Given the description of an element on the screen output the (x, y) to click on. 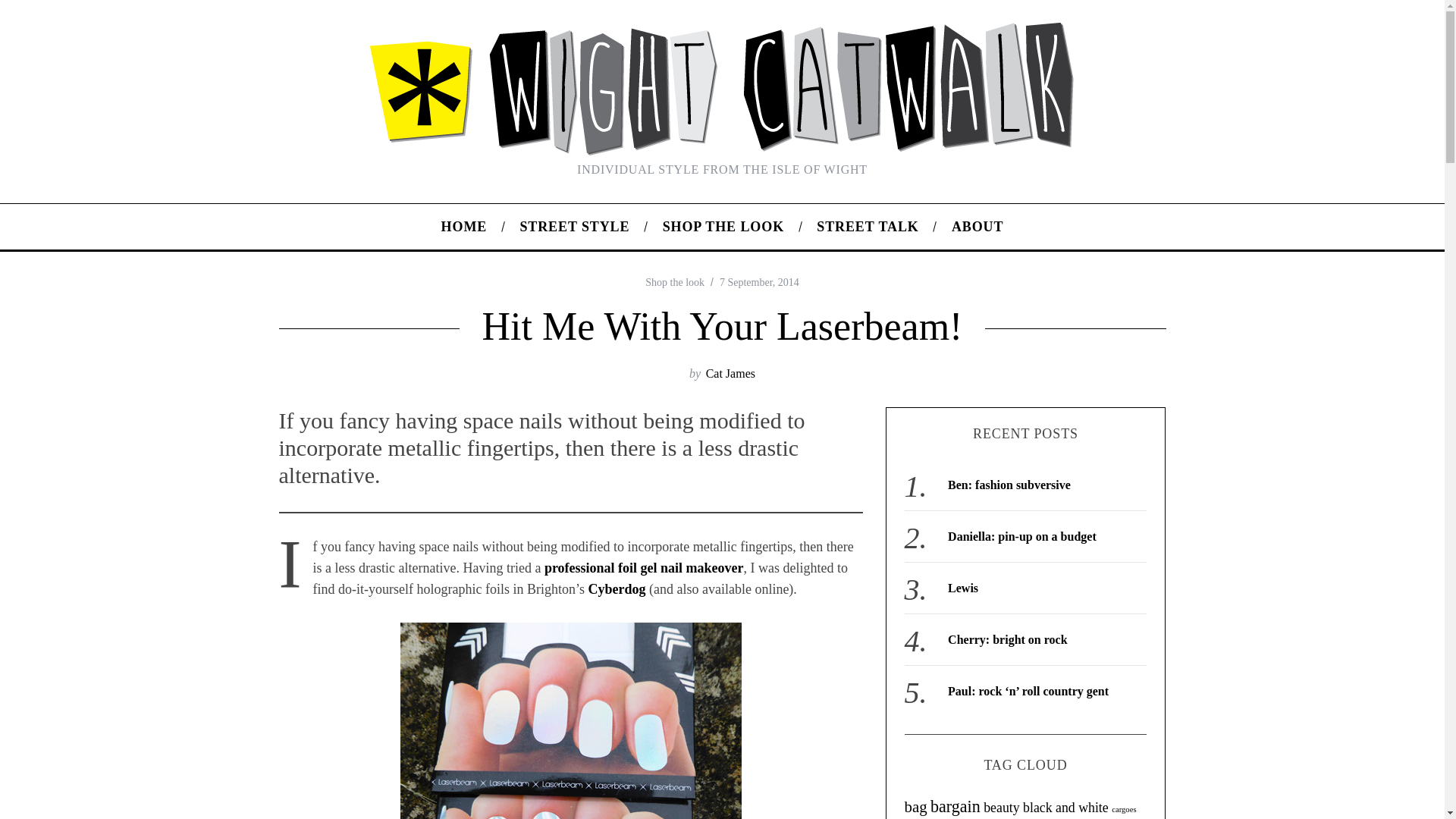
professional foil gel nail makeover (644, 567)
SHOP THE LOOK (723, 226)
ABOUT (977, 226)
STREET TALK (868, 226)
Shop the look (674, 282)
Cat James (730, 373)
Wight Catwalk (464, 226)
Cyberdog (616, 589)
STREET STYLE (574, 226)
